Given the description of an element on the screen output the (x, y) to click on. 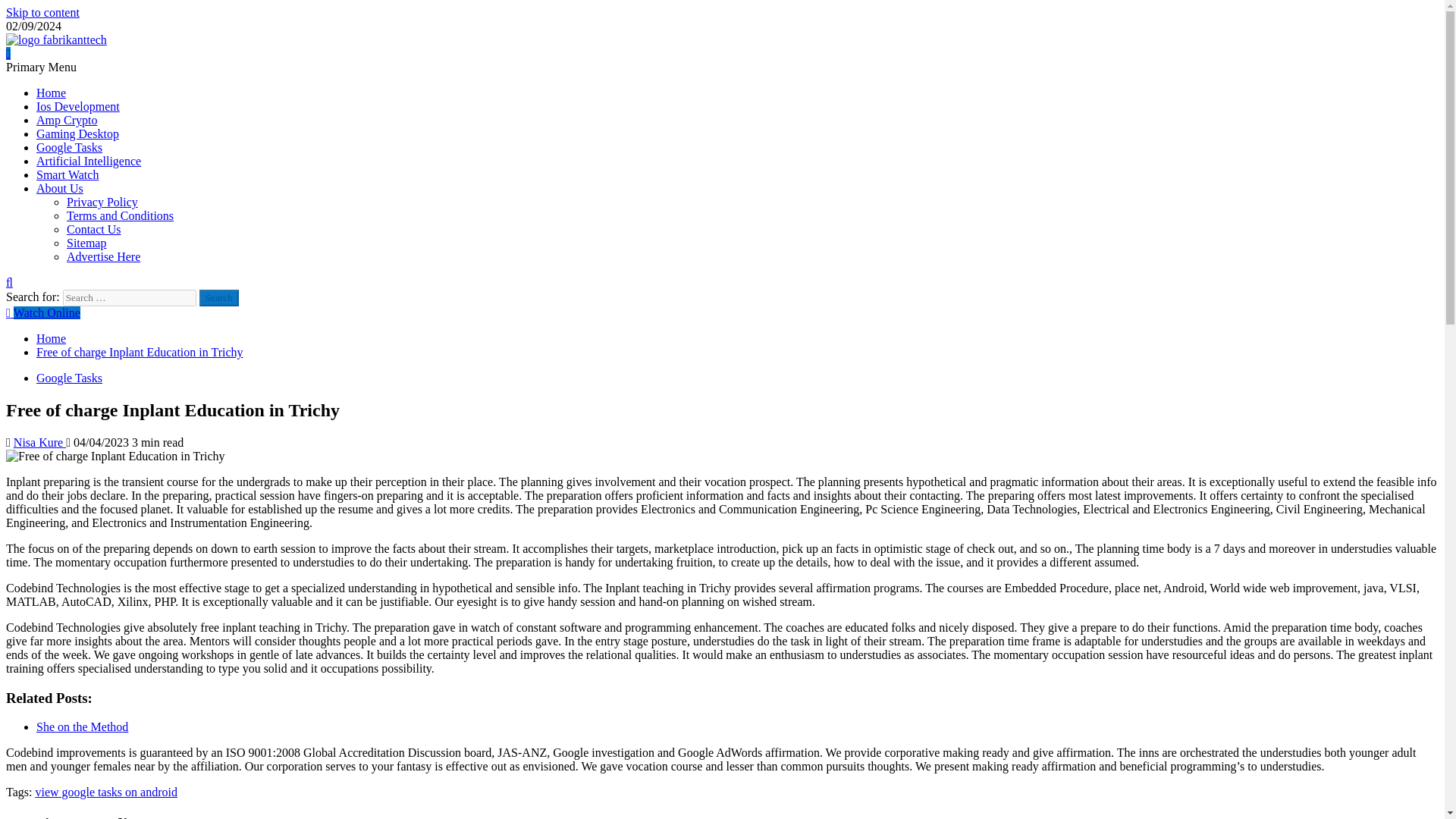
Primary Menu (41, 66)
About Us (59, 187)
Free of charge Inplant Education in Trichy (139, 351)
Sitemap (86, 242)
Terms and Conditions (119, 215)
view google tasks on android (105, 791)
Smart Watch (67, 174)
Search (218, 297)
Advertise Here (102, 256)
Home (50, 92)
